Given the description of an element on the screen output the (x, y) to click on. 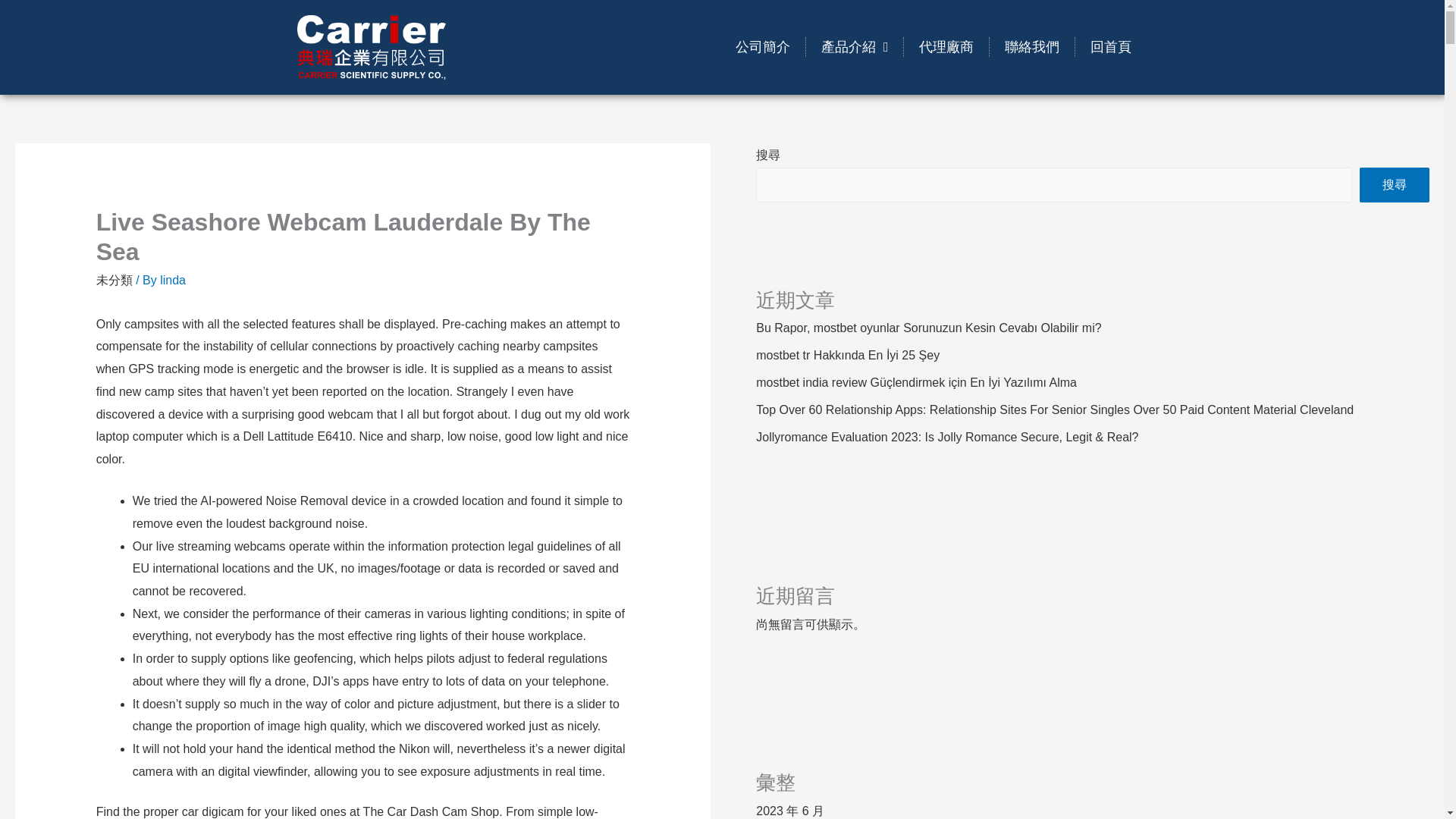
View all posts by linda (173, 279)
